Given the description of an element on the screen output the (x, y) to click on. 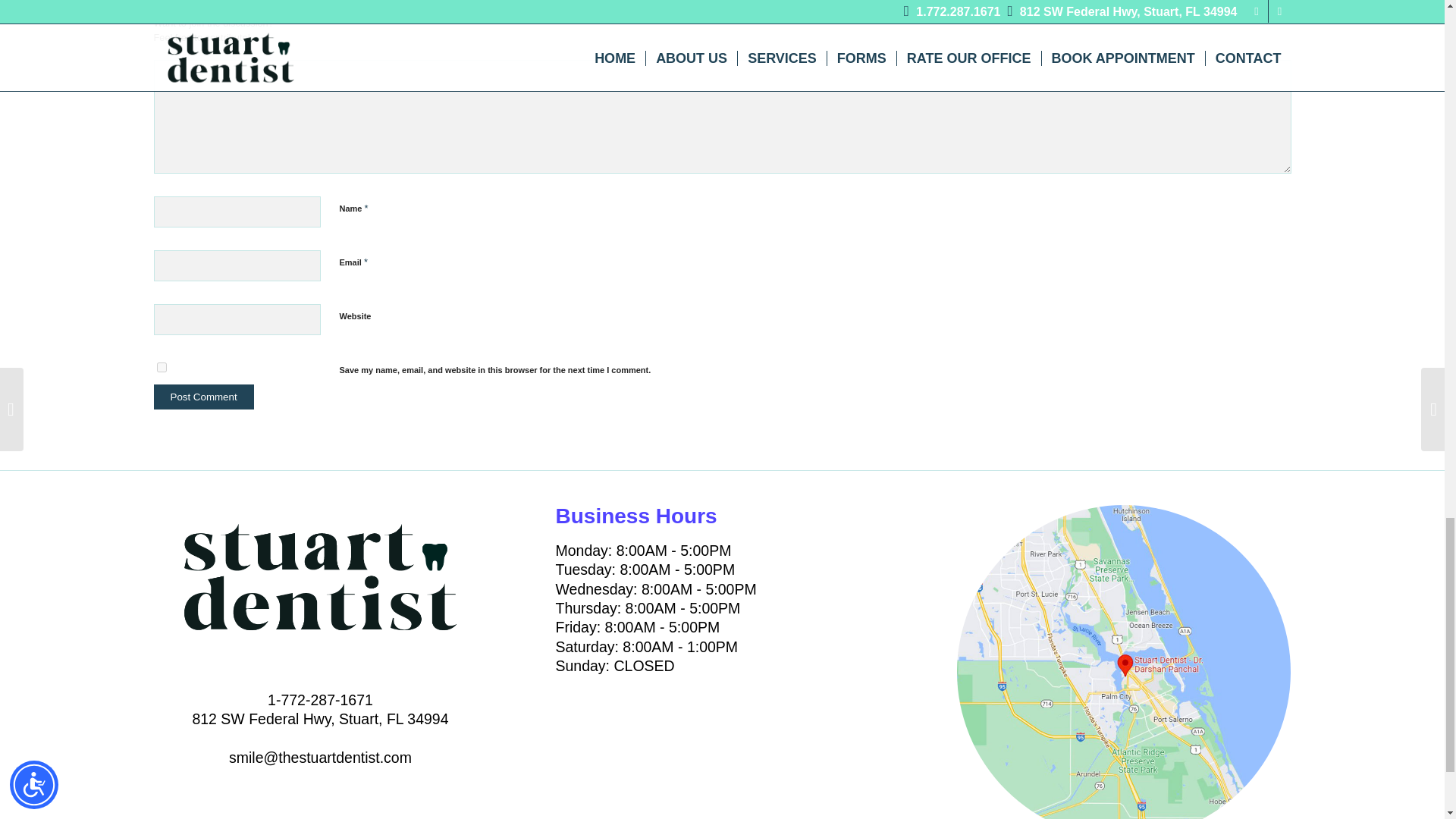
yes (160, 367)
Post Comment (202, 396)
